Given the description of an element on the screen output the (x, y) to click on. 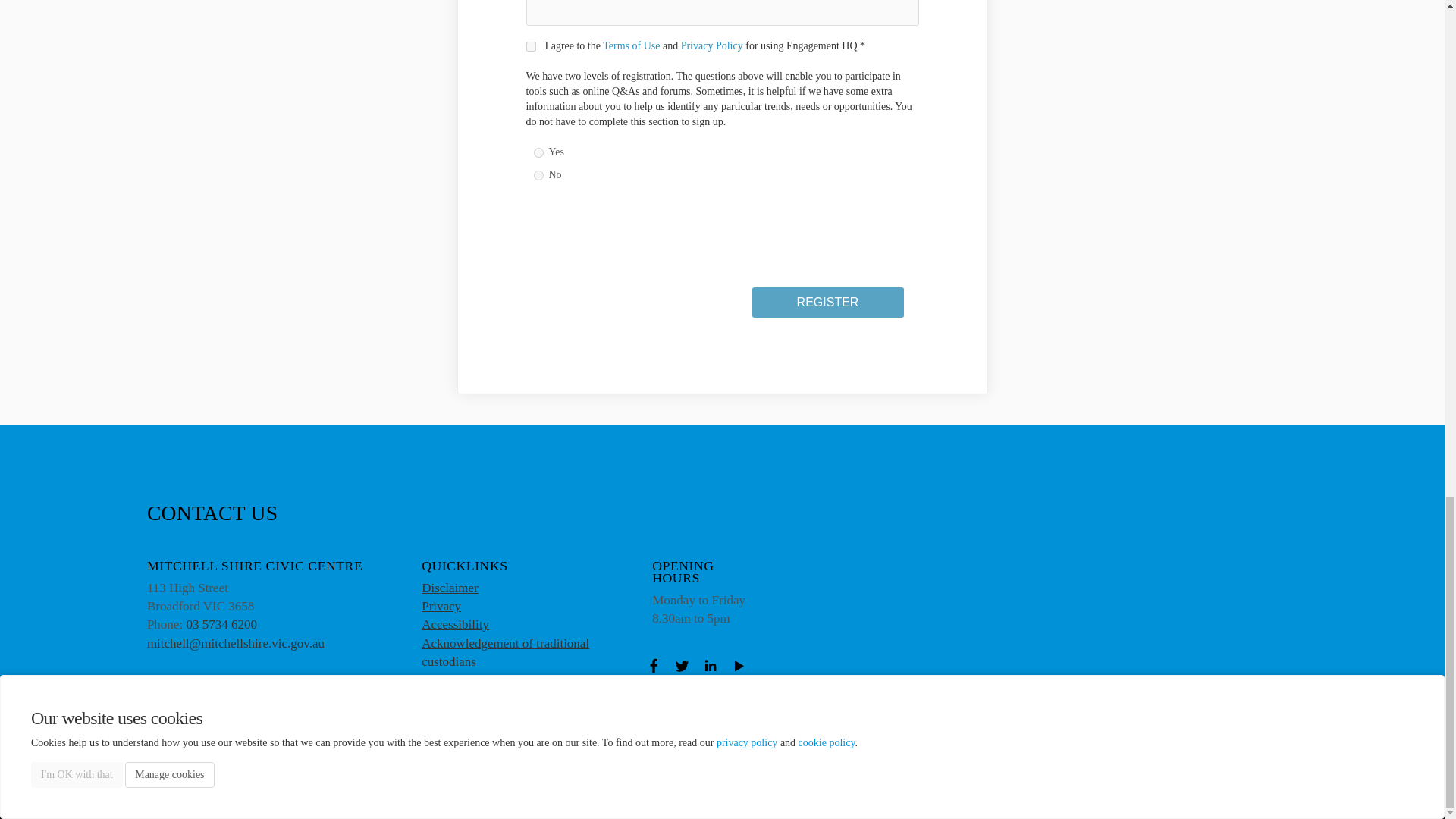
Privacy (441, 605)
Moderation Policy (226, 797)
Technical Support (374, 797)
Site Map (508, 797)
Disclaimer (450, 587)
Accessibility (301, 797)
Register (828, 302)
reCAPTCHA (641, 250)
Terms and Conditions (60, 797)
Acknowledgement of traditional custodians (505, 652)
Terms of Use (630, 45)
Cookie Policy (450, 797)
1 (530, 46)
Privacy Policy (146, 797)
Accessibility (455, 624)
